Given the description of an element on the screen output the (x, y) to click on. 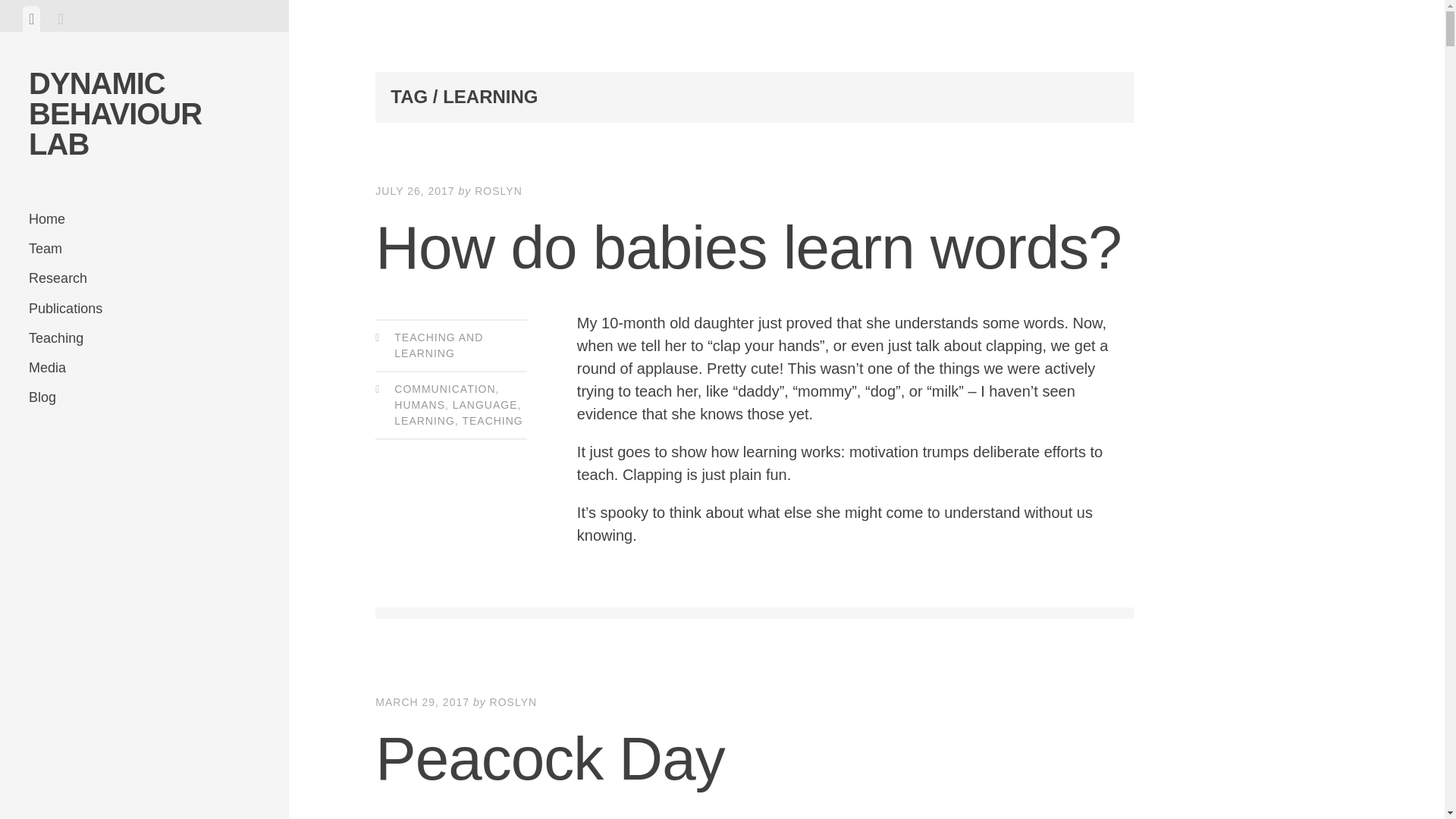
Team (144, 248)
Blog (144, 397)
DYNAMIC BEHAVIOUR LAB (115, 113)
Publications (144, 308)
Research (144, 278)
Media (144, 367)
Home (144, 219)
Teaching (144, 337)
